Given the description of an element on the screen output the (x, y) to click on. 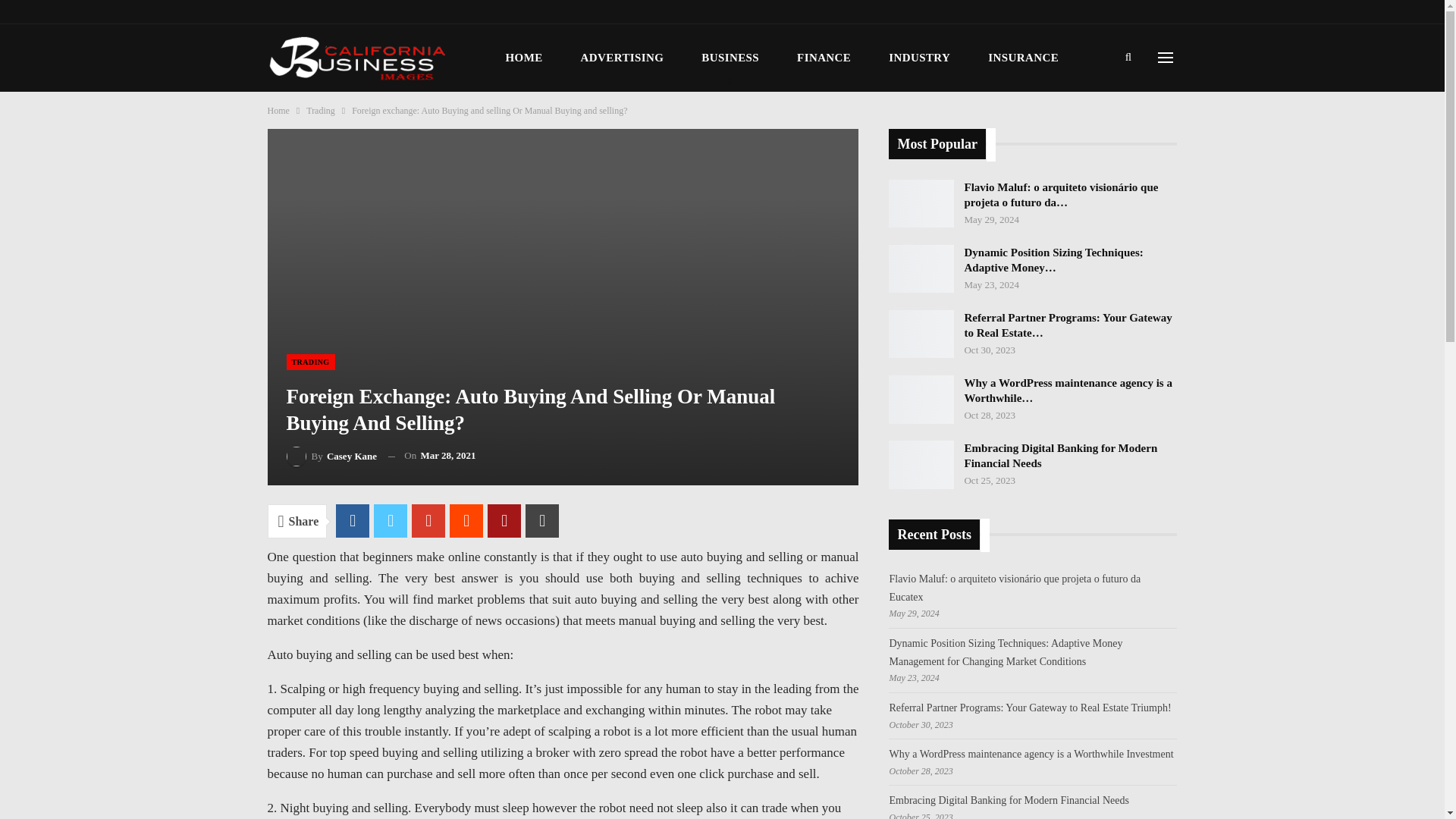
TRADING (310, 361)
INDUSTRY (919, 57)
Home (277, 110)
Browse Author Articles (331, 455)
By Casey Kane (331, 455)
Trading (319, 110)
BUSINESS (729, 57)
FINANCE (824, 57)
